Given the description of an element on the screen output the (x, y) to click on. 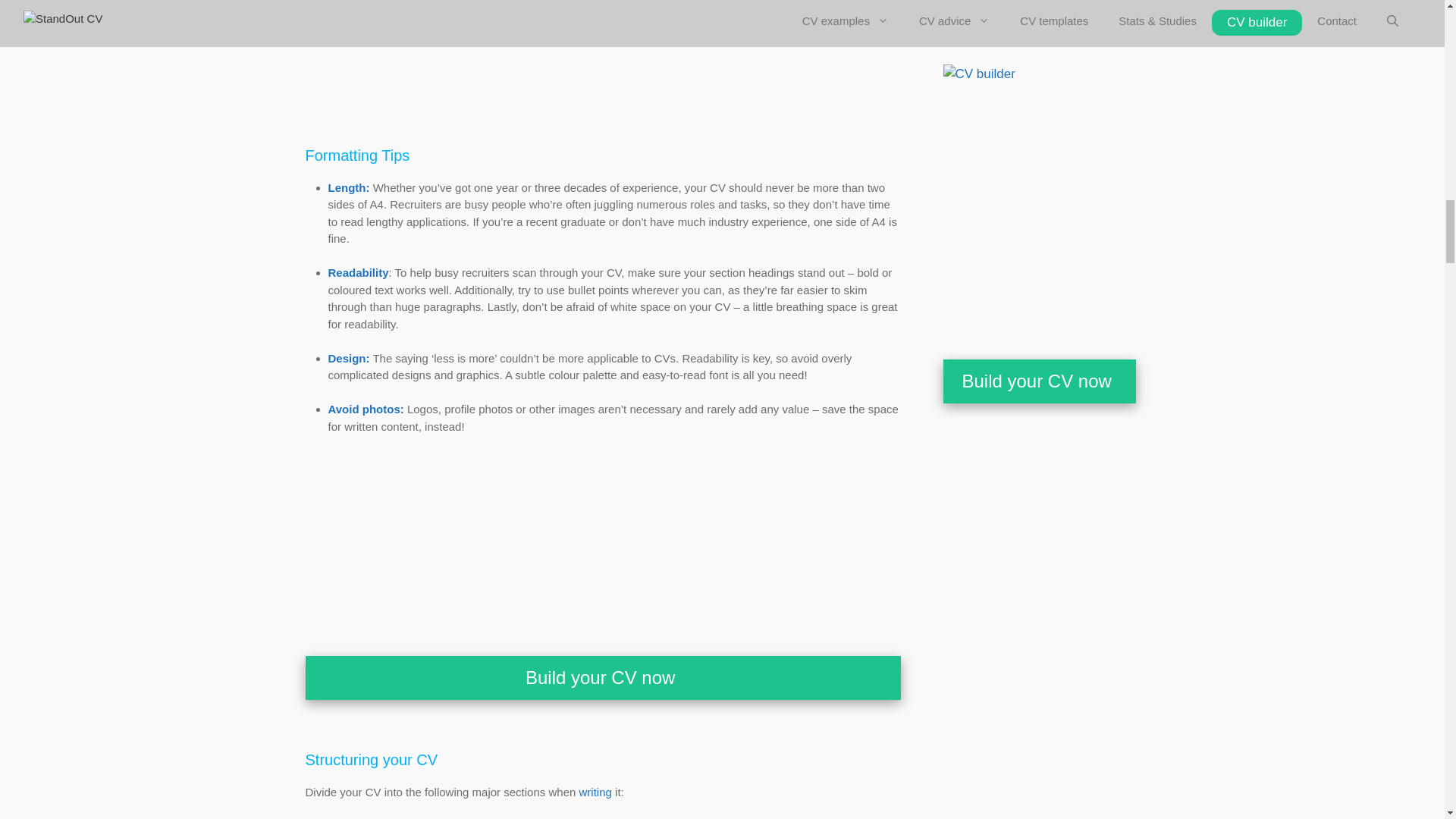
How to write a CV (595, 791)
